Given the description of an element on the screen output the (x, y) to click on. 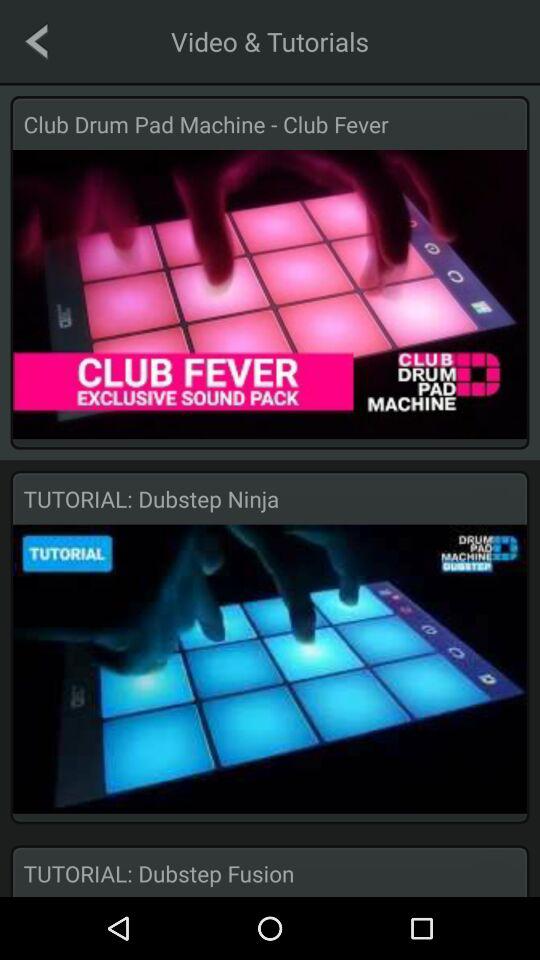
turn on the club drum pad icon (269, 124)
